Given the description of an element on the screen output the (x, y) to click on. 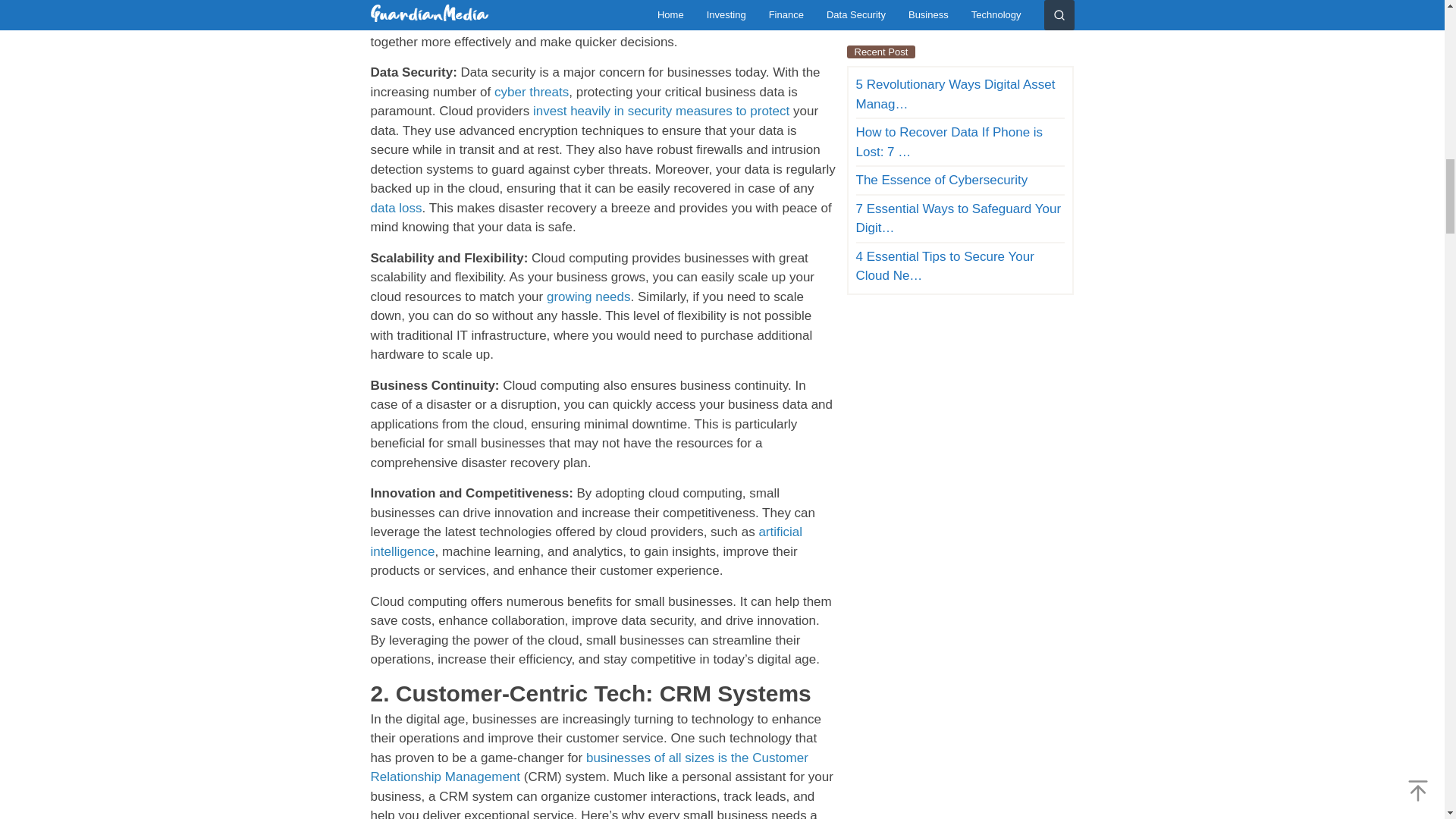
artificial intelligence (585, 541)
growing needs (588, 296)
cyber threats (532, 92)
invest heavily in security measures to protect (660, 110)
data loss (395, 206)
